Given the description of an element on the screen output the (x, y) to click on. 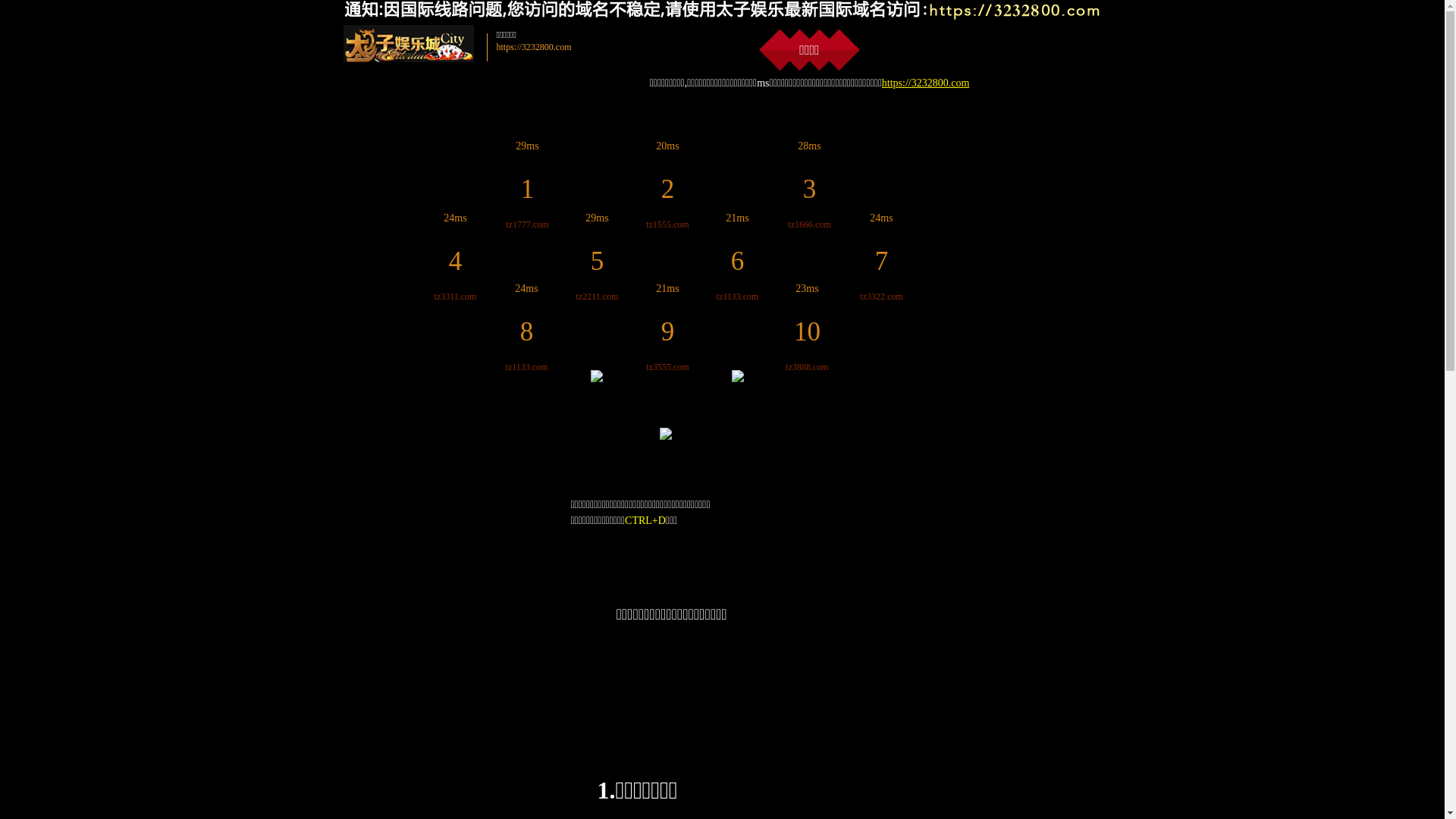
21ms
6
tz1133.com Element type: text (737, 256)
24ms
8
tz1133.com Element type: text (526, 326)
28ms
3
tz1666.com Element type: text (808, 184)
29ms
5
tz2211.com Element type: text (597, 256)
21ms
9
tz3555.com Element type: text (667, 326)
24ms
7
tz3322.com Element type: text (880, 256)
24ms
4
tz3311.com Element type: text (455, 256)
https://3232800.com Element type: text (533, 46)
20ms
2
tz1555.com Element type: text (667, 184)
23ms
10
tz3888.com Element type: text (806, 326)
29ms
1
tz1777.com Element type: text (526, 184)
https://3232800.com Element type: text (925, 82)
